Given the description of an element on the screen output the (x, y) to click on. 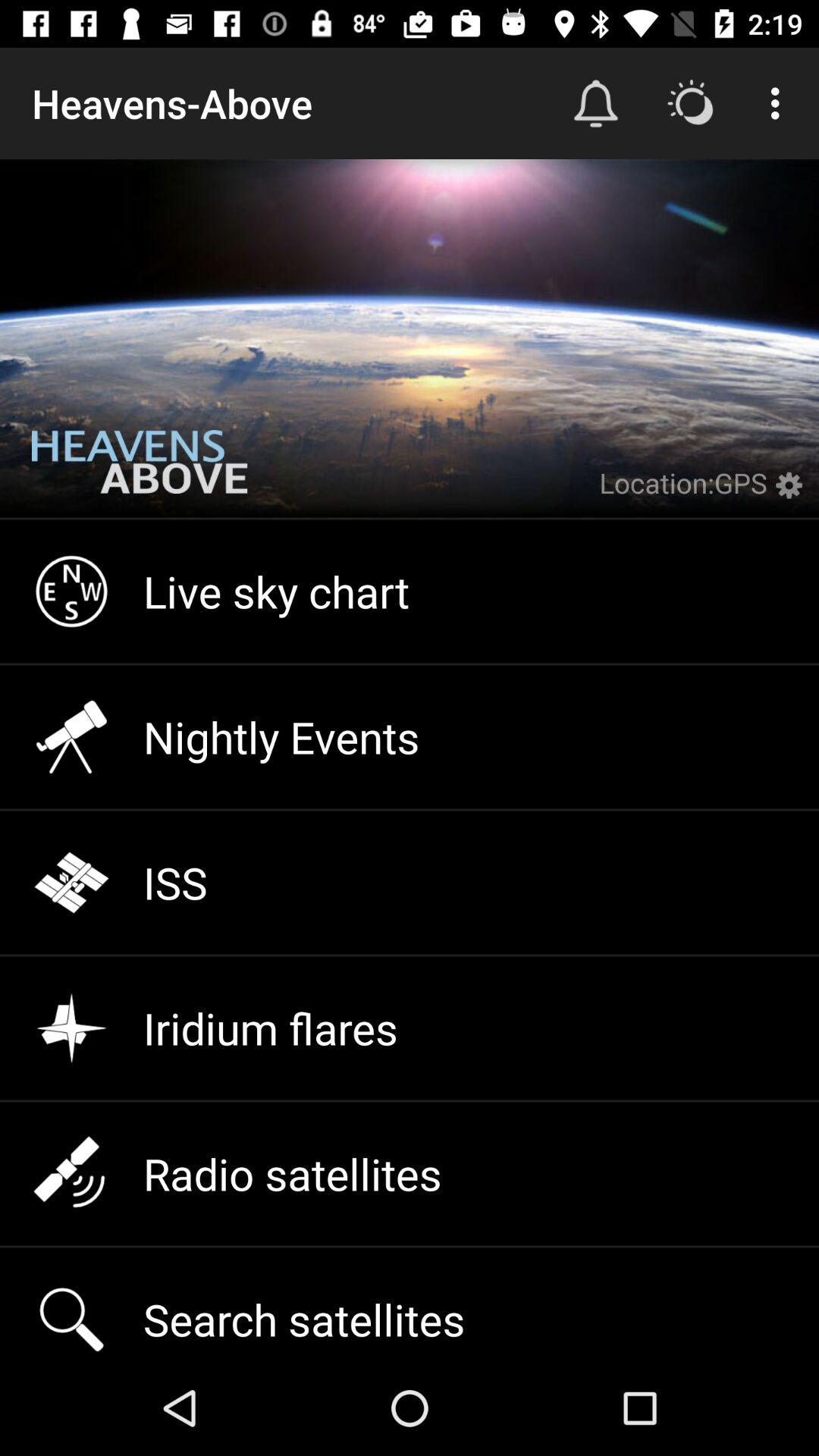
open item above the radio satellites icon (409, 1027)
